Given the description of an element on the screen output the (x, y) to click on. 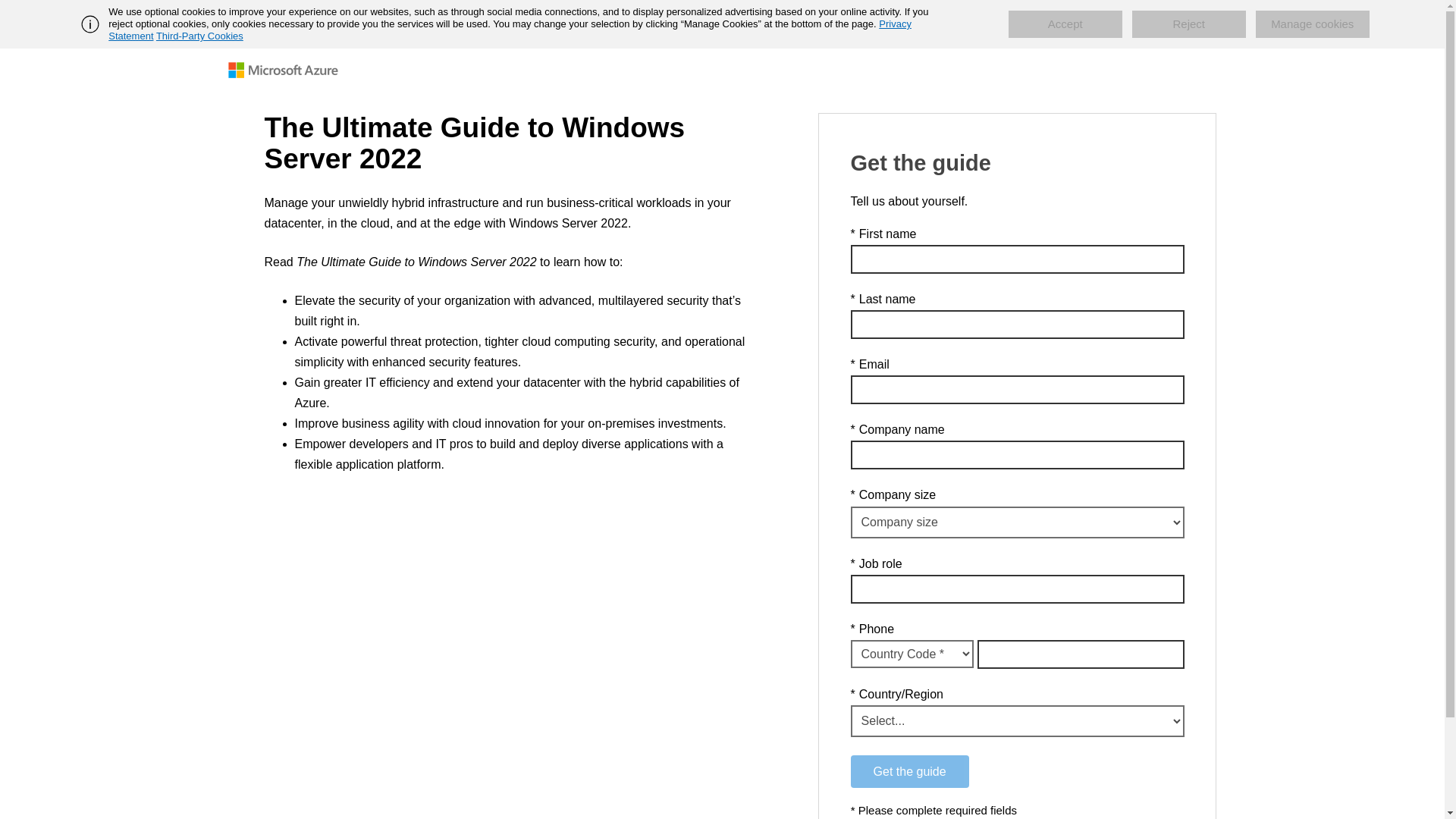
Third-Party Cookies (199, 35)
Reject (1189, 23)
Get the guide (909, 771)
Manage cookies (1312, 23)
Accept (1065, 23)
Privacy Statement (509, 29)
